Given the description of an element on the screen output the (x, y) to click on. 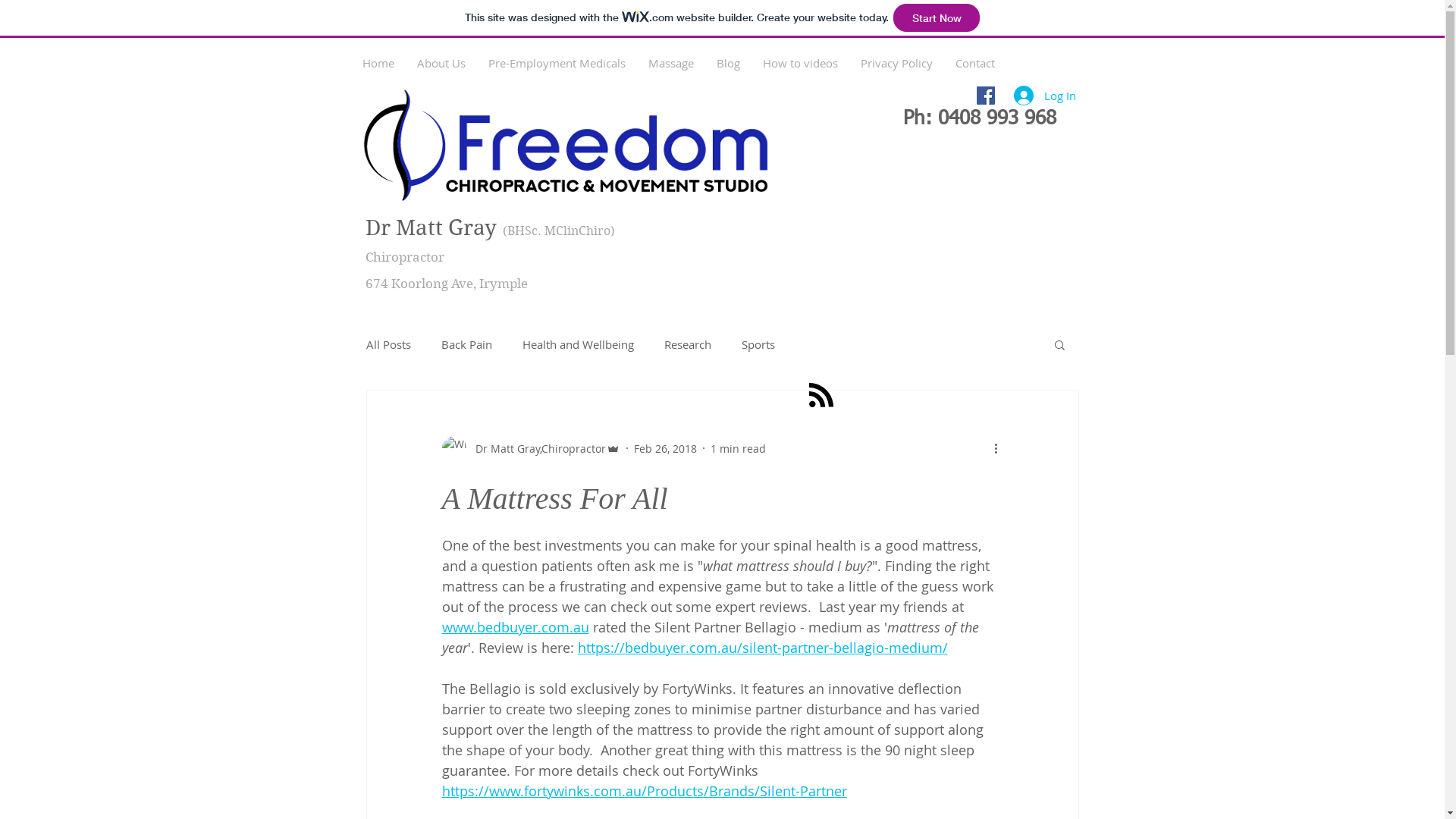
Log In Element type: text (1043, 95)
Sports Element type: text (758, 343)
Dr Matt Gray,Chiropractor Element type: text (530, 448)
About Us Element type: text (440, 62)
Blog Element type: text (728, 62)
Research Element type: text (687, 343)
www.bedbuyer.com.au Element type: text (514, 627)
Privacy Policy Element type: text (896, 62)
How to videos Element type: text (799, 62)
https://www.fortywinks.com.au/Products/Brands/Silent-Partner Element type: text (643, 790)
Ph: 0408 993 968 Element type: text (978, 118)
Back Pain Element type: text (466, 343)
Massage Element type: text (671, 62)
https://bedbuyer.com.au/silent-partner-bellagio-medium/ Element type: text (762, 647)
Home Element type: text (377, 62)
Contact Element type: text (974, 62)
All Posts Element type: text (387, 343)
Pre-Employment Medicals Element type: text (556, 62)
Health and Wellbeing Element type: text (577, 343)
